Given the description of an element on the screen output the (x, y) to click on. 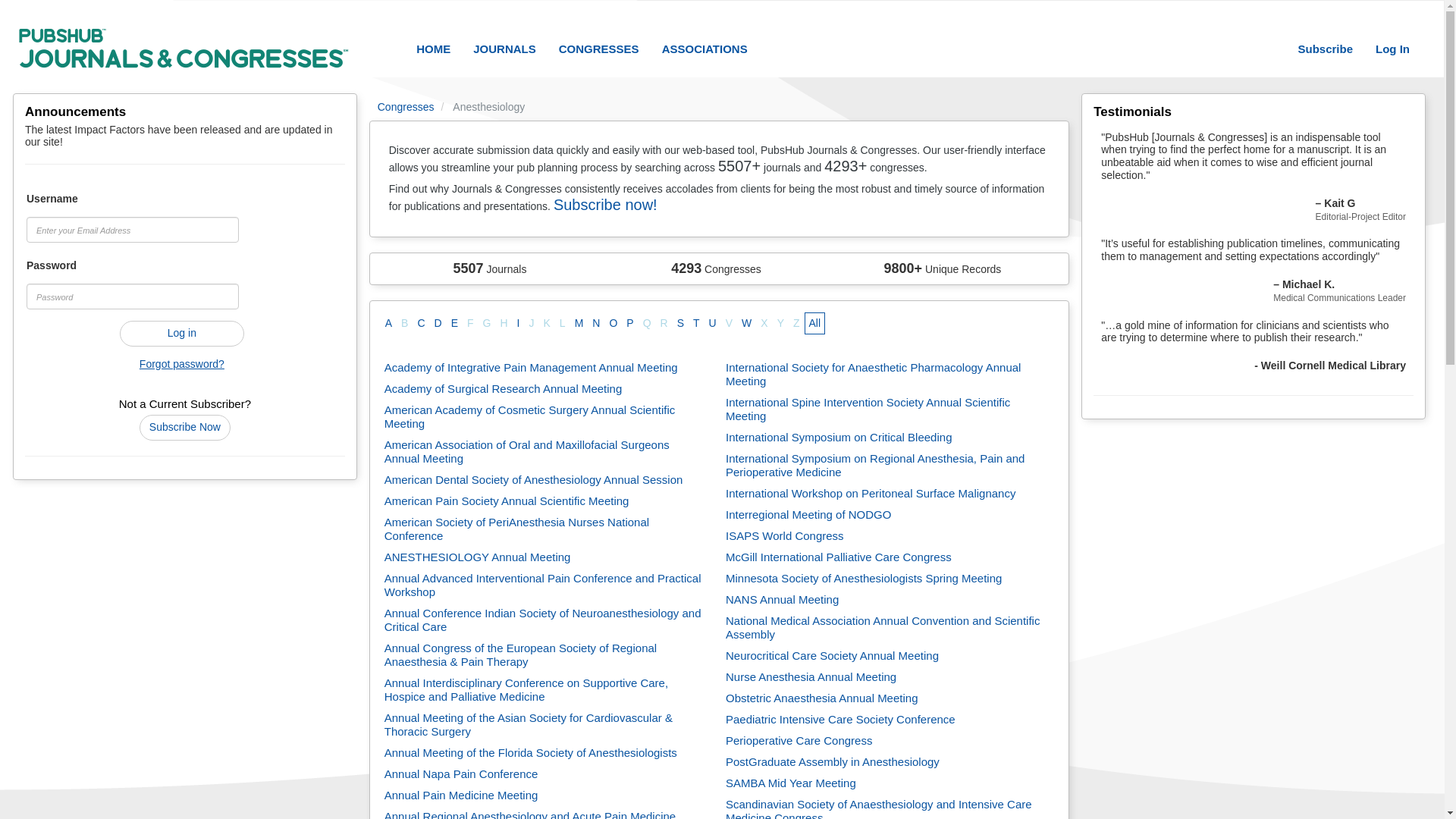
Log In (1392, 48)
CONGRESSES (598, 48)
HOME (432, 48)
Subscribe Now (184, 427)
JOURNALS (504, 48)
Subscribe (1324, 48)
ASSOCIATIONS (704, 48)
Log in (181, 333)
Forgot password? (181, 363)
Subscribe now! (605, 204)
All (815, 322)
Congresses (405, 106)
Log in (181, 333)
